Given the description of an element on the screen output the (x, y) to click on. 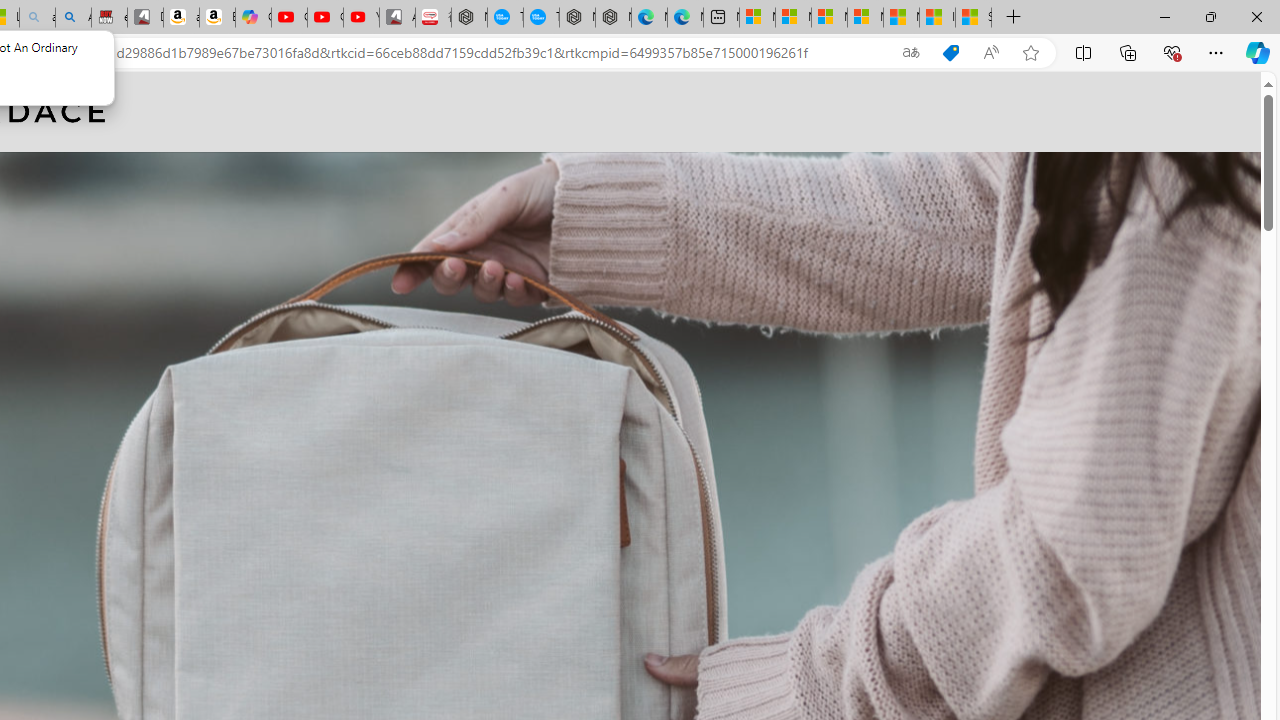
Microsoft account | Privacy (865, 17)
Gloom - YouTube (325, 17)
amazon - Search - Sleeping (37, 17)
Amazon Echo Dot PNG - Search Images (73, 17)
All Cubot phones (397, 17)
Nordace - Nordace has arrived Hong Kong (613, 17)
